Given the description of an element on the screen output the (x, y) to click on. 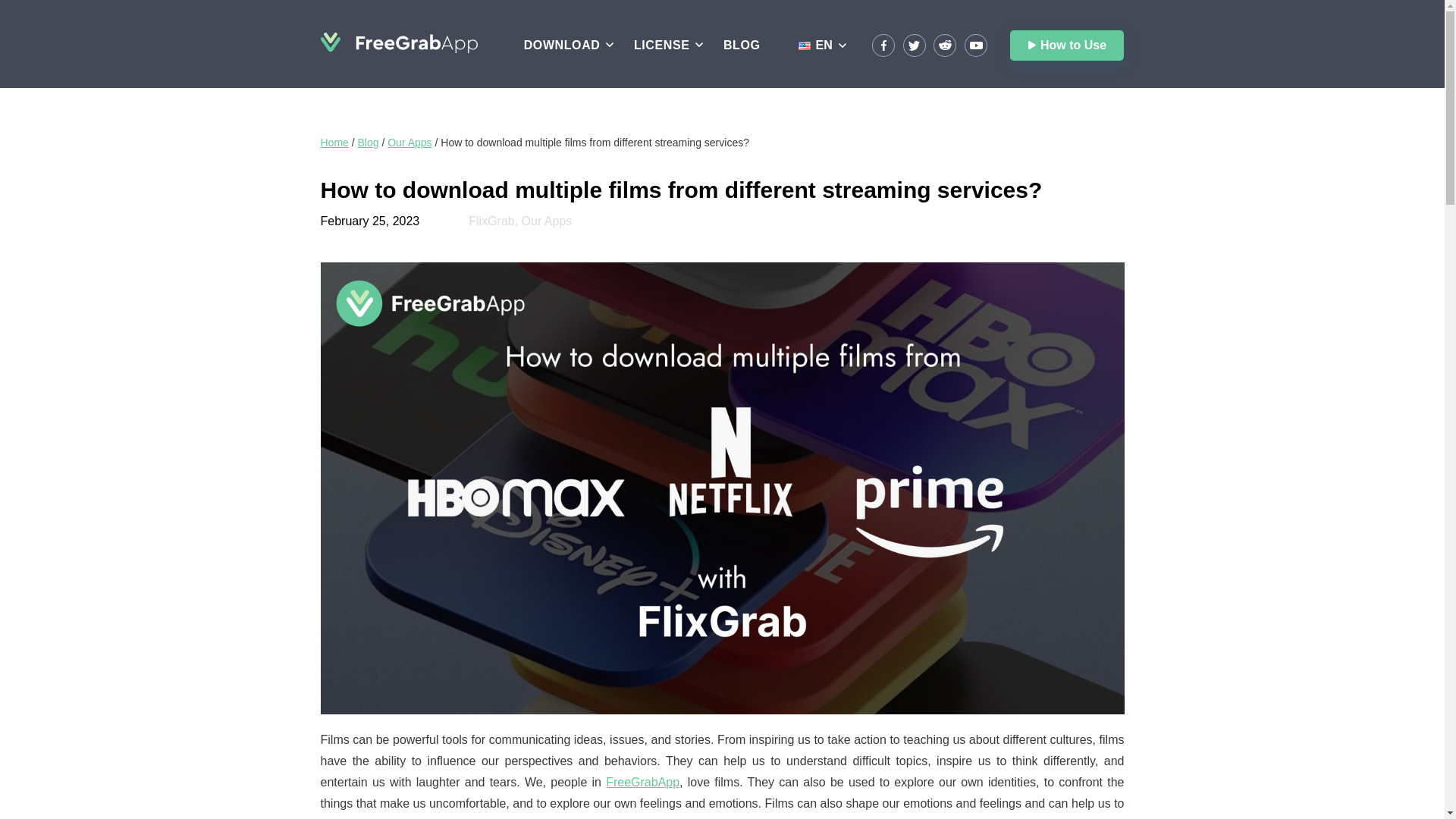
LICENSE (661, 44)
BLOG (741, 44)
DOWNLOAD (561, 44)
